Given the description of an element on the screen output the (x, y) to click on. 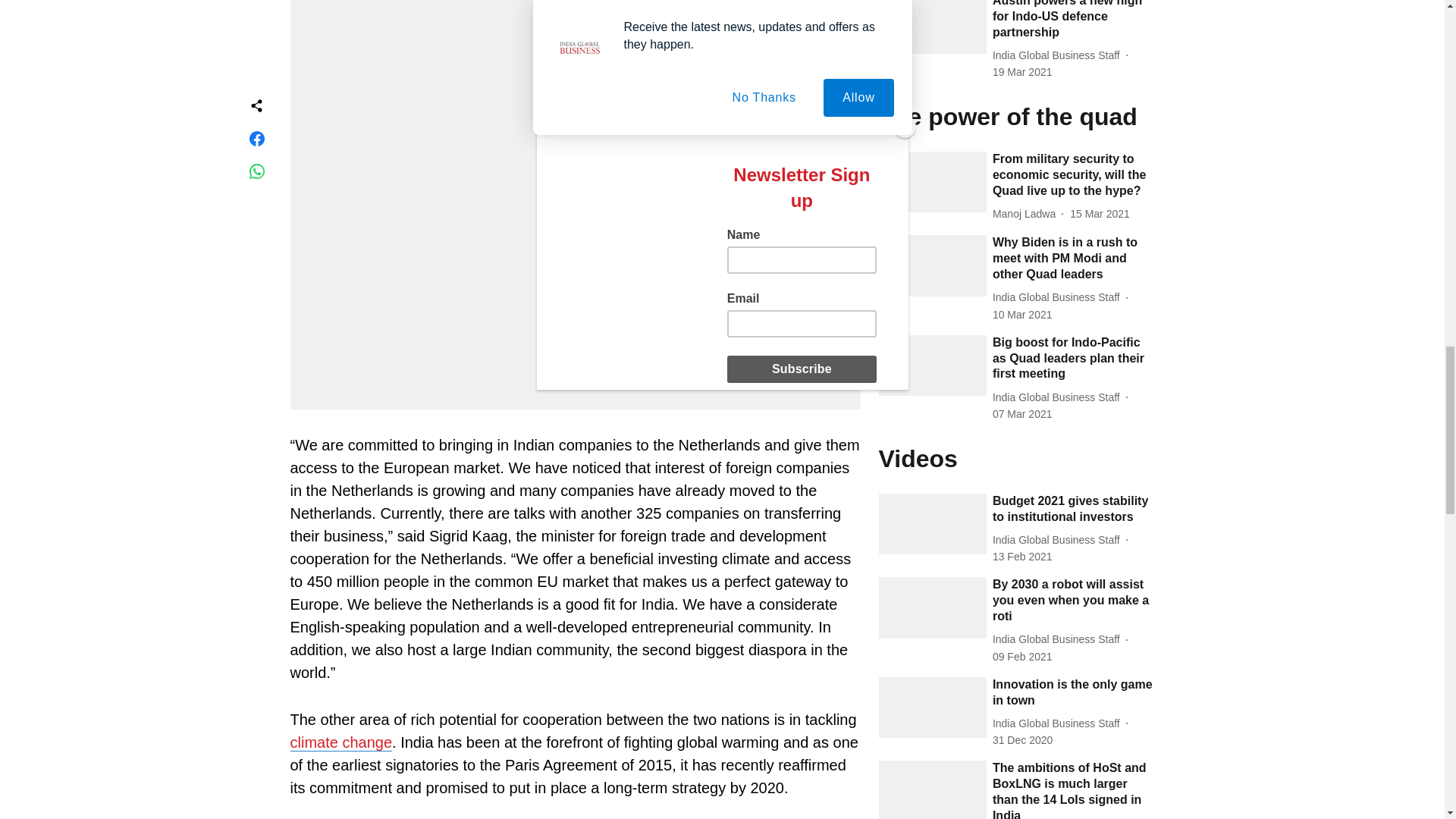
2020-12-31 05:29 (1022, 740)
2021-02-13 07:35 (1022, 556)
2021-03-19 10:10 (1022, 72)
2021-03-15 13:56 (1099, 213)
2021-02-09 07:31 (1022, 657)
2021-03-10 10:15 (1022, 314)
2021-03-07 07:09 (1022, 414)
